Given the description of an element on the screen output the (x, y) to click on. 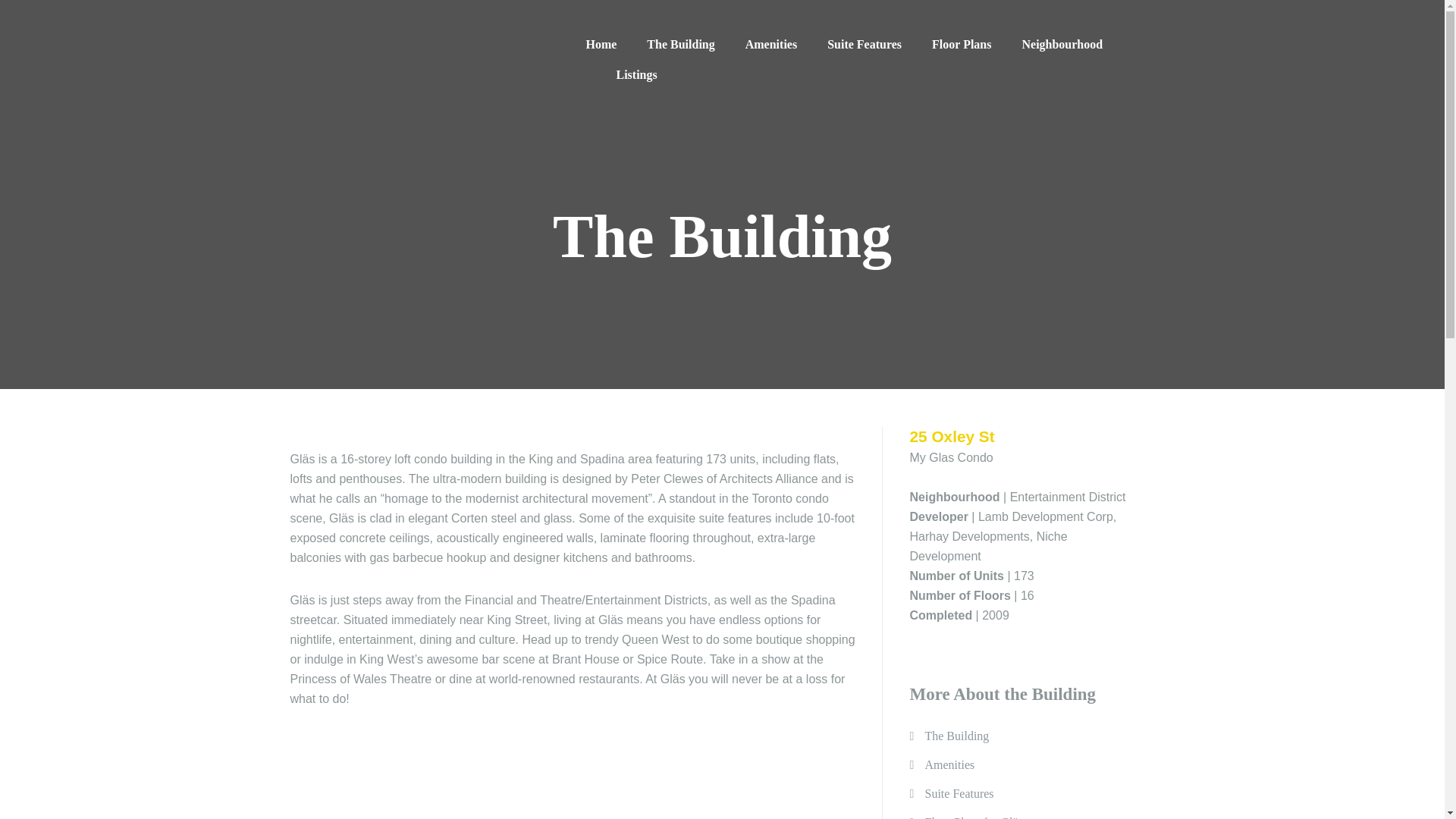
Floor Plans (961, 43)
Neighbourhood (1062, 43)
Suite Features (958, 793)
Listings (635, 74)
Home (600, 43)
The Building (956, 735)
Suite Features (864, 43)
Amenities (770, 43)
Amenities (949, 764)
The Building (680, 43)
